Given the description of an element on the screen output the (x, y) to click on. 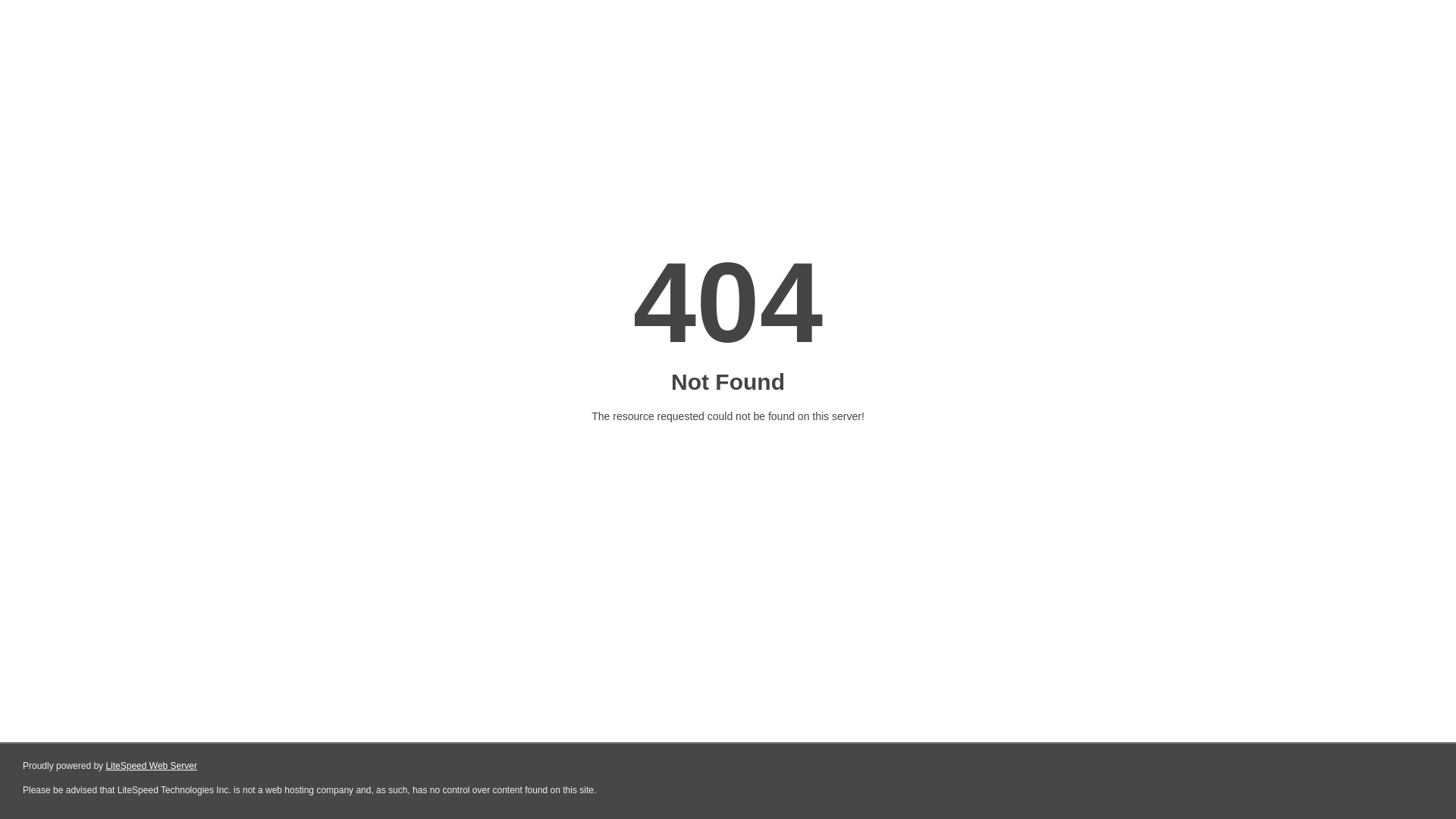
LiteSpeed Web Server Element type: text (151, 765)
